Given the description of an element on the screen output the (x, y) to click on. 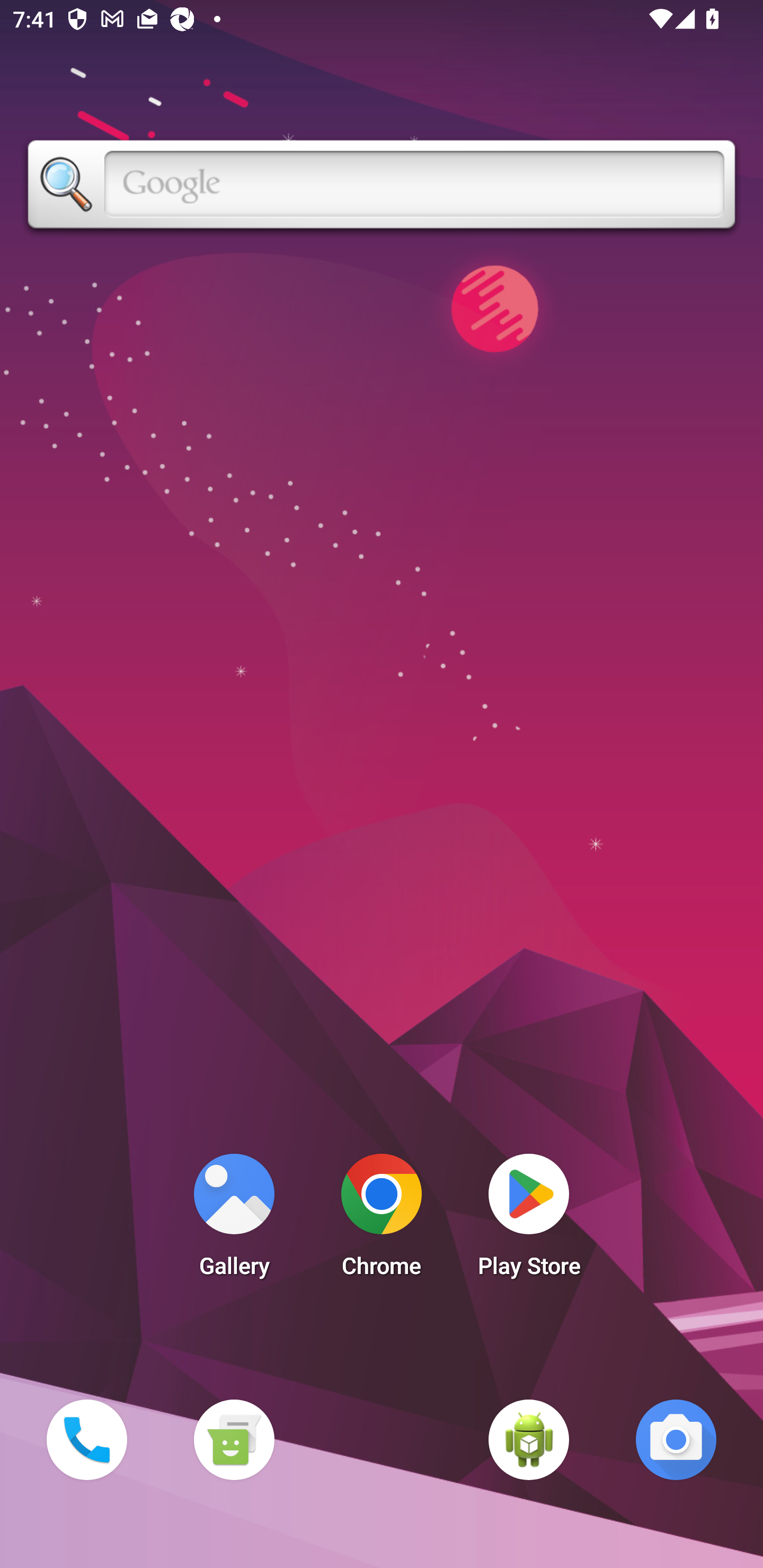
Gallery (233, 1220)
Chrome (381, 1220)
Play Store (528, 1220)
Phone (86, 1439)
Messaging (233, 1439)
WebView Browser Tester (528, 1439)
Camera (676, 1439)
